Given the description of an element on the screen output the (x, y) to click on. 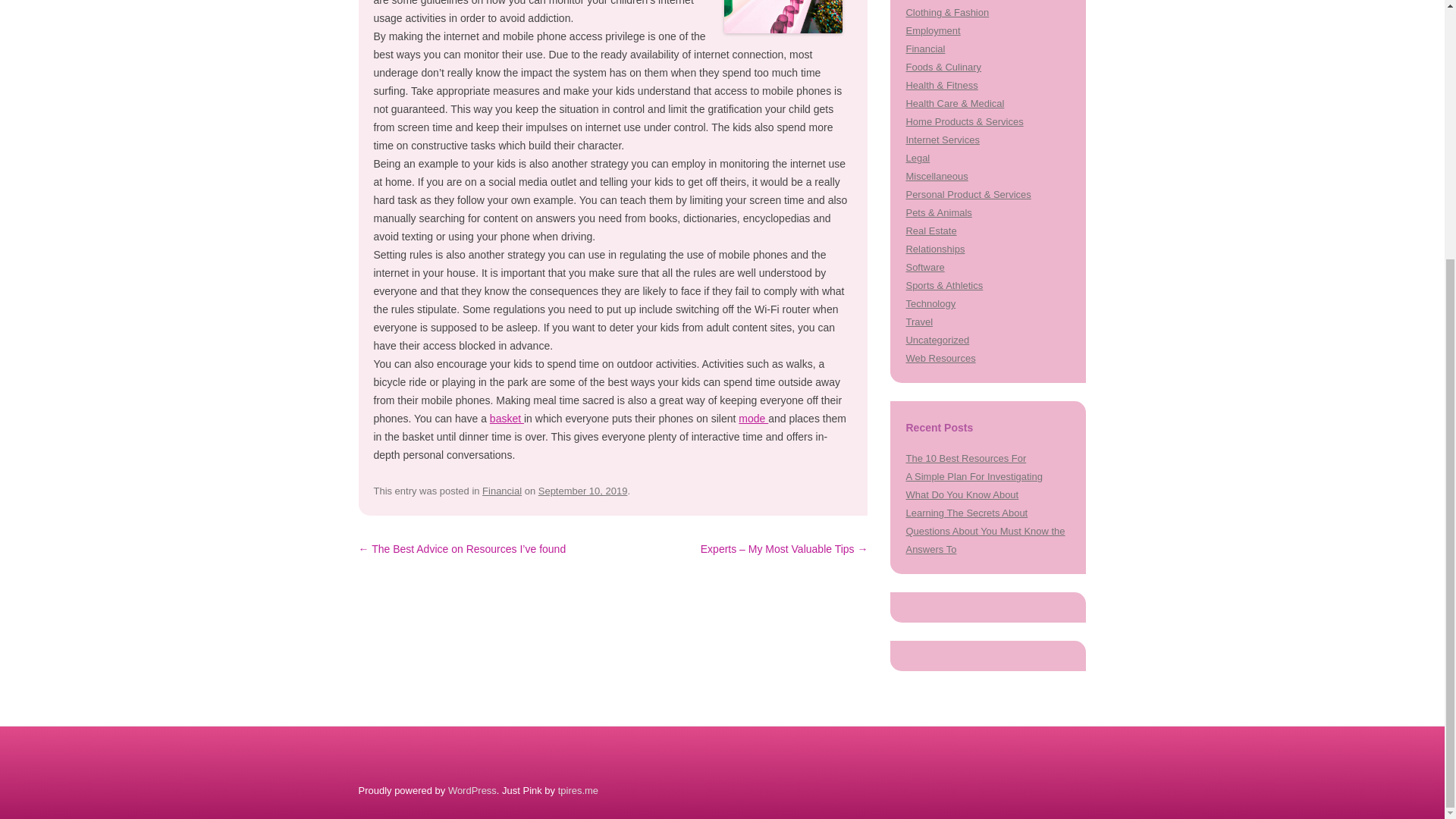
The 10 Best Resources For (965, 458)
Financial (924, 48)
September 10, 2019 (582, 490)
Miscellaneous (936, 175)
Software (924, 266)
Legal (917, 157)
Uncategorized (937, 339)
Technology (930, 303)
Financial (501, 490)
Web Resources (940, 357)
Real Estate (930, 230)
Relationships (934, 248)
mode (753, 418)
Internet Services (941, 139)
Travel (919, 321)
